Given the description of an element on the screen output the (x, y) to click on. 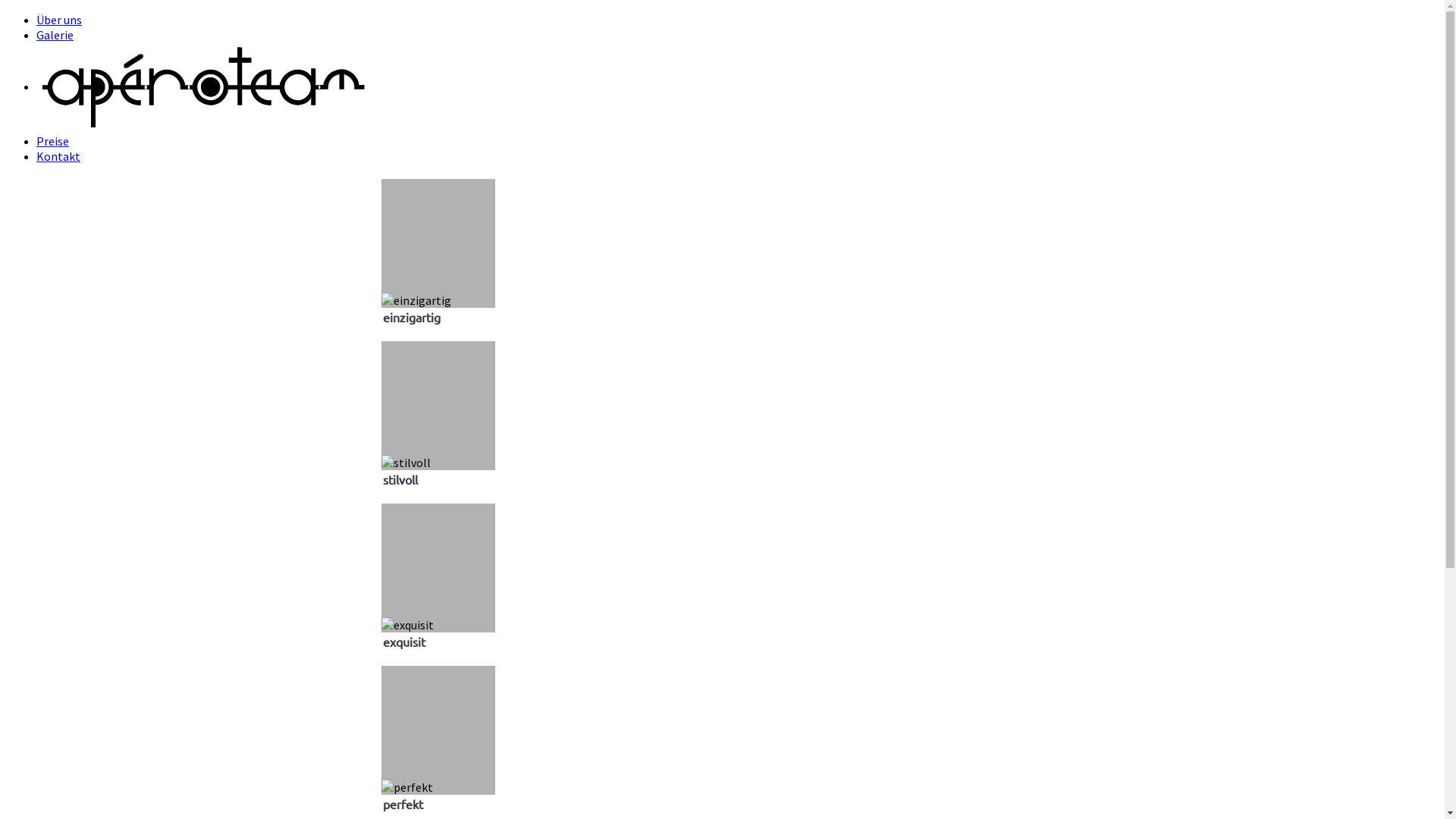
einzigartig Element type: hover (415, 299)
Kontakt Element type: text (58, 155)
Springe zum Inhalt Element type: text (5, 11)
exquisit Element type: hover (406, 624)
perfekt Element type: hover (406, 786)
Galerie Element type: text (54, 34)
einzigartig Element type: text (437, 259)
exquisit Element type: text (437, 584)
Preise Element type: text (52, 140)
stilvoll Element type: hover (404, 462)
stilvoll Element type: text (437, 422)
